Given the description of an element on the screen output the (x, y) to click on. 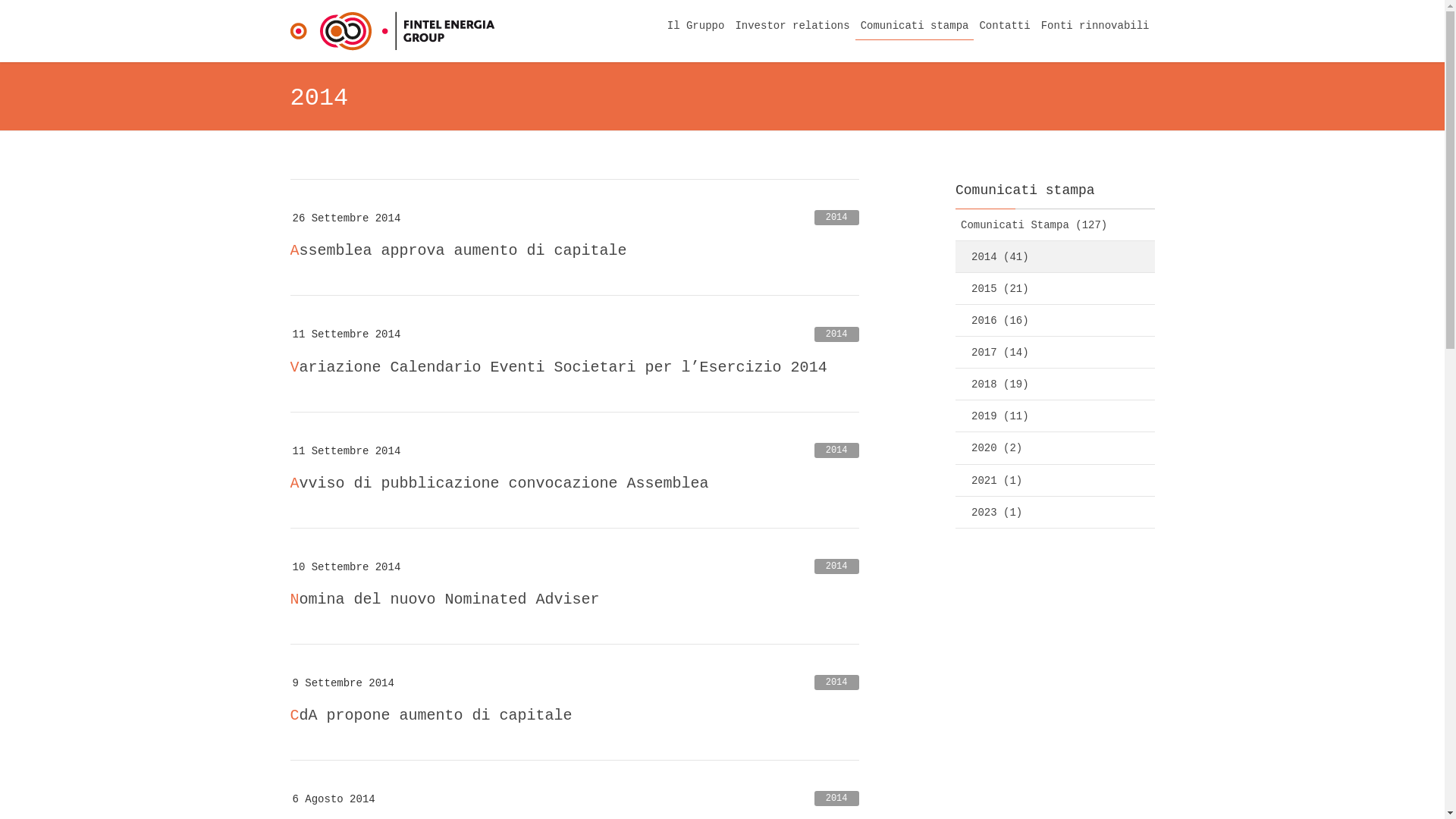
2023 (1) Element type: text (1054, 512)
Contatti Element type: text (1004, 26)
Comunicati stampa Element type: text (914, 26)
Fonti rinnovabili Element type: text (1094, 26)
Il Gruppo Element type: text (696, 26)
2014 Element type: text (836, 798)
2014 Element type: text (836, 682)
2018 (19) Element type: text (1054, 384)
2016 (16) Element type: text (1054, 320)
Nomina del nuovo Nominated Adviser Element type: text (444, 599)
CdA propone aumento di capitale Element type: text (430, 715)
Investor relations Element type: text (791, 26)
2021 (1) Element type: text (1054, 480)
Comunicati Stampa (127) Element type: text (1054, 225)
2017 (14) Element type: text (1054, 352)
2014 (41) Element type: text (1054, 257)
2020 (2) Element type: text (1054, 448)
Assemblea approva aumento di capitale Element type: text (457, 250)
2014 Element type: text (836, 334)
Avviso di pubblicazione convocazione Assemblea Element type: text (498, 483)
2014 Element type: text (836, 566)
2014 Element type: text (836, 450)
2014 Element type: text (836, 217)
2015 (21) Element type: text (1054, 288)
2019 (11) Element type: text (1054, 416)
